Given the description of an element on the screen output the (x, y) to click on. 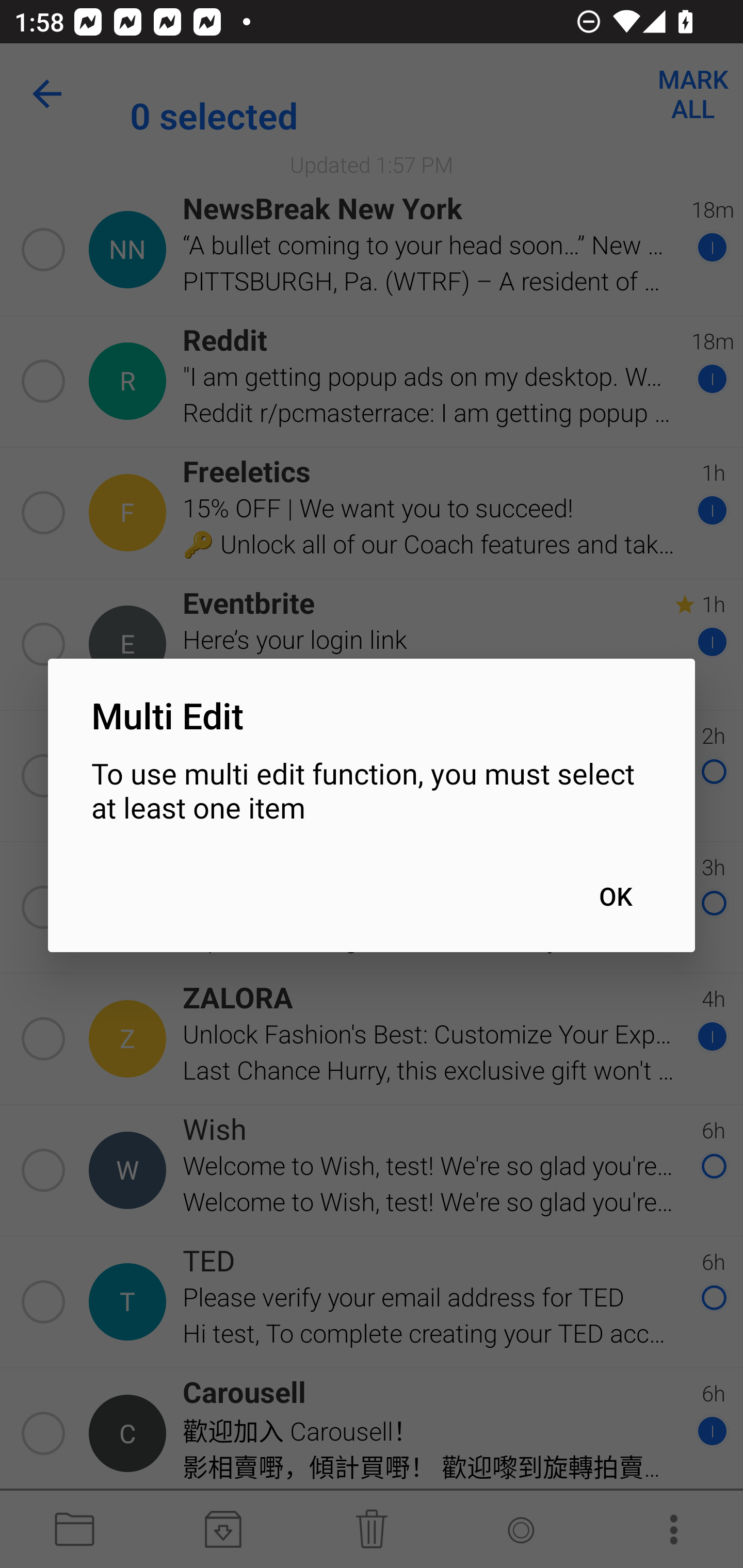
OK (615, 895)
